Given the description of an element on the screen output the (x, y) to click on. 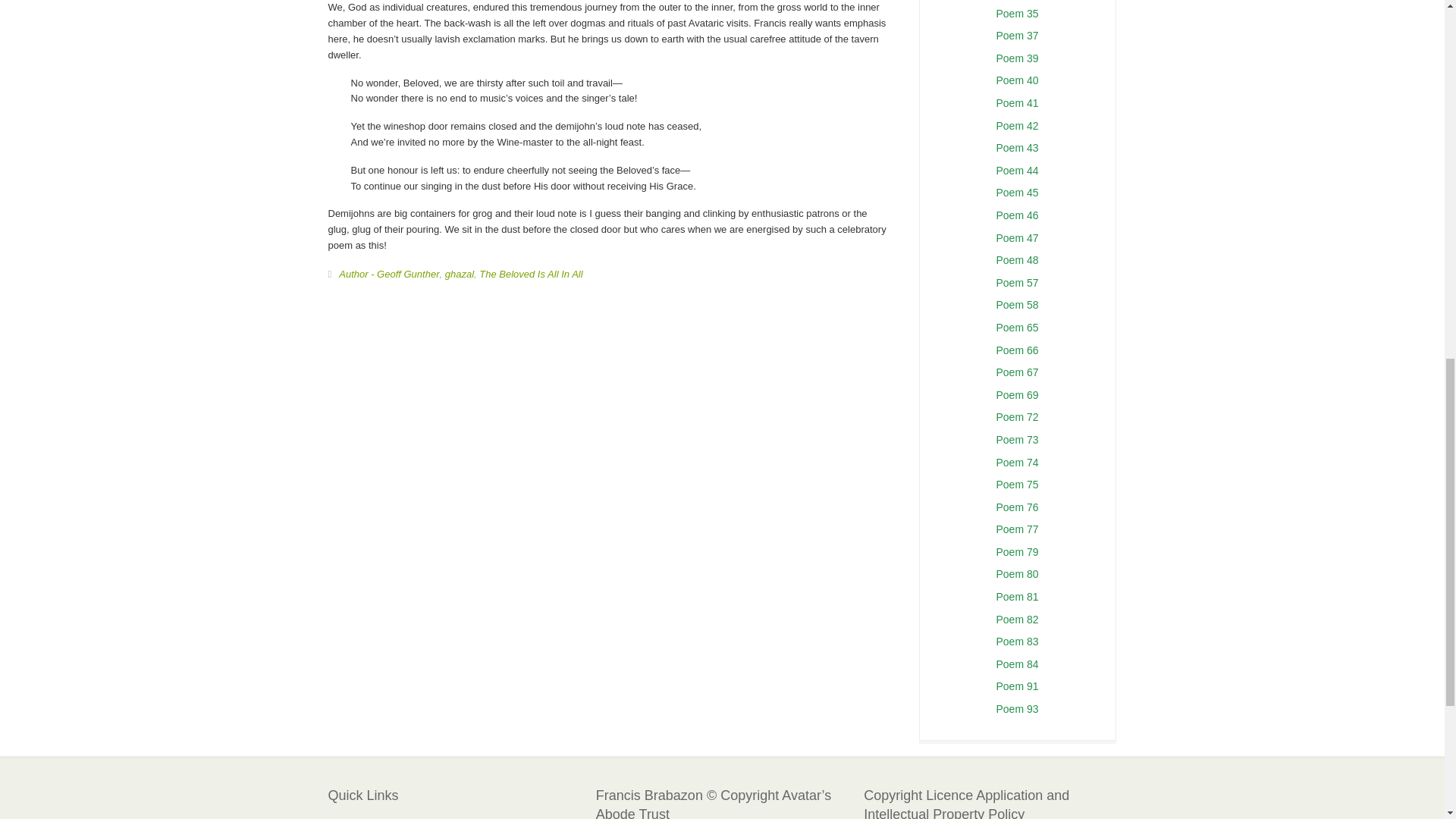
Author - Geoff Gunther (389, 274)
The Beloved Is All In All (530, 274)
ghazal (459, 274)
